Given the description of an element on the screen output the (x, y) to click on. 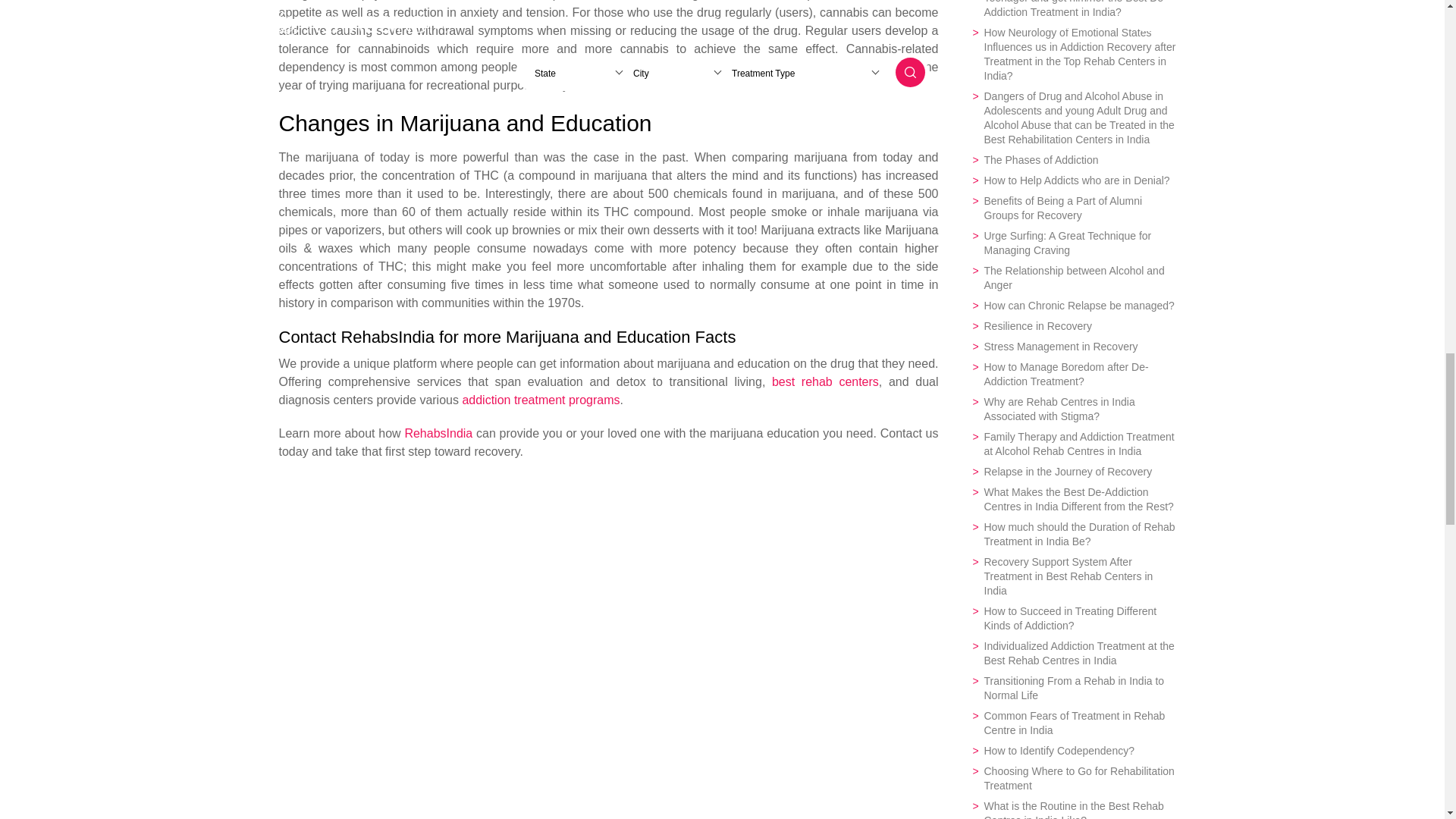
RehabsIndia (437, 432)
addiction treatment programs (540, 399)
best rehab centers (825, 381)
